Given the description of an element on the screen output the (x, y) to click on. 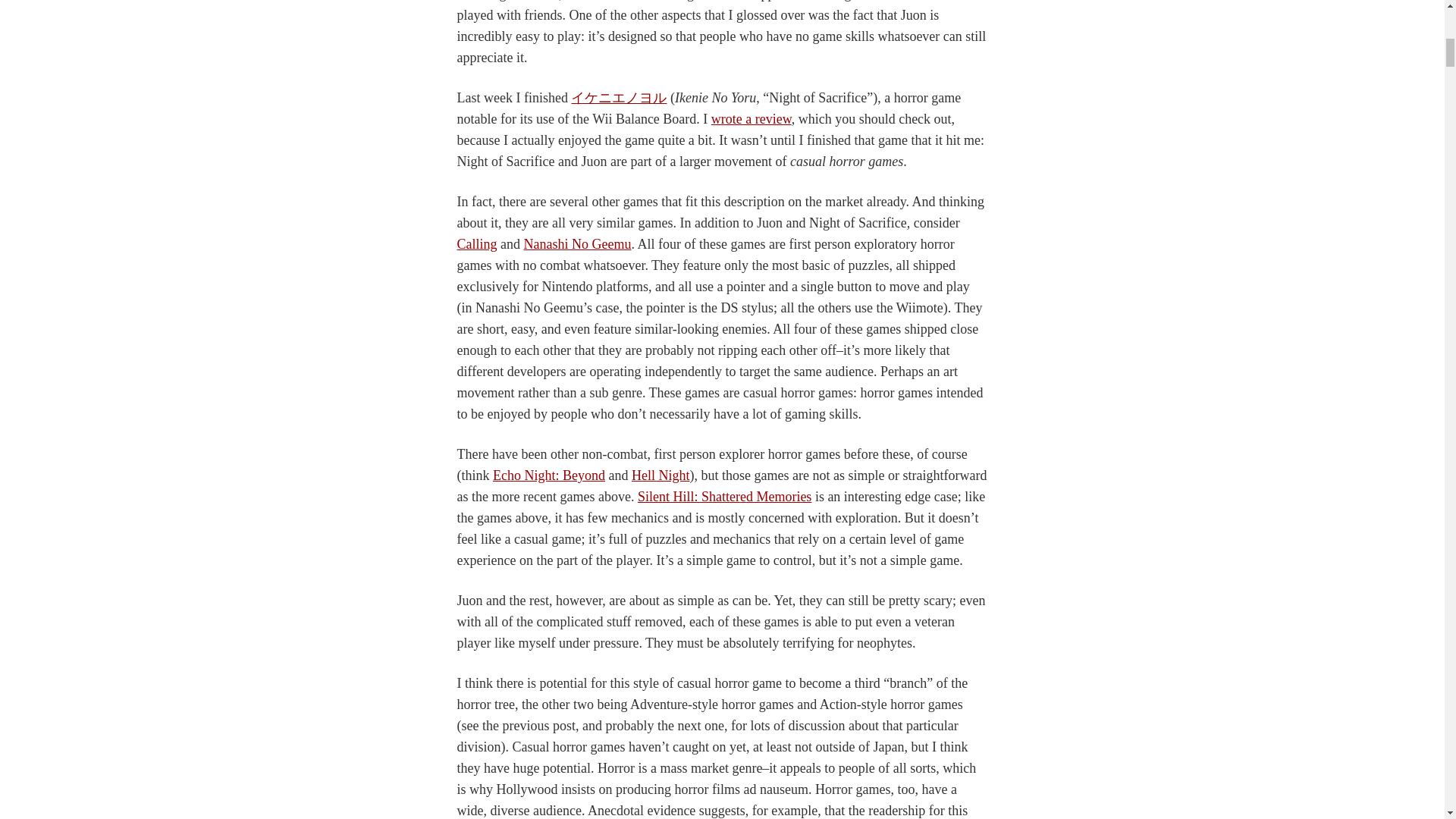
Calling (476, 243)
wrote a review (751, 118)
Hell Night (660, 475)
Echo Night: Beyond (549, 475)
Nanashi No Geemu (576, 243)
Silent Hill: Shattered Memories (723, 496)
